Given the description of an element on the screen output the (x, y) to click on. 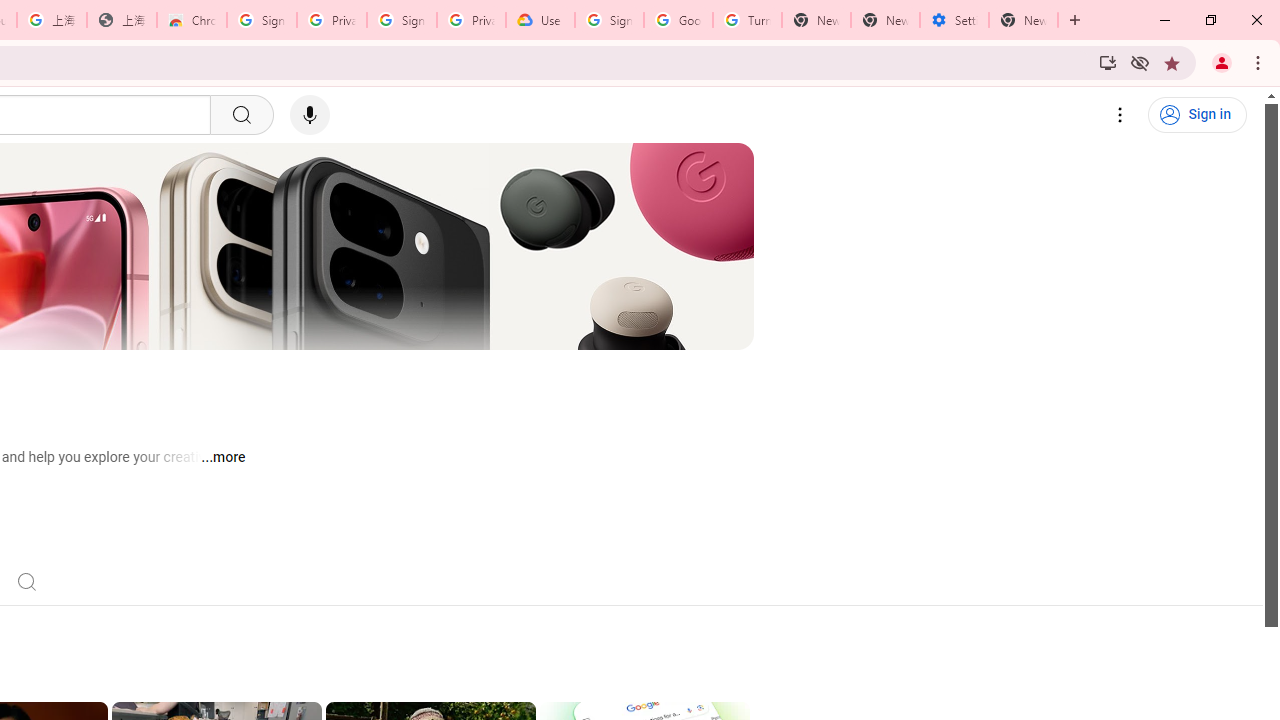
Turn cookies on or off - Computer - Google Account Help (747, 20)
Search with your voice (309, 115)
Sign in - Google Accounts (608, 20)
Sign in - Google Accounts (261, 20)
Settings (1119, 115)
Sign in - Google Accounts (401, 20)
Settings - System (954, 20)
